Given the description of an element on the screen output the (x, y) to click on. 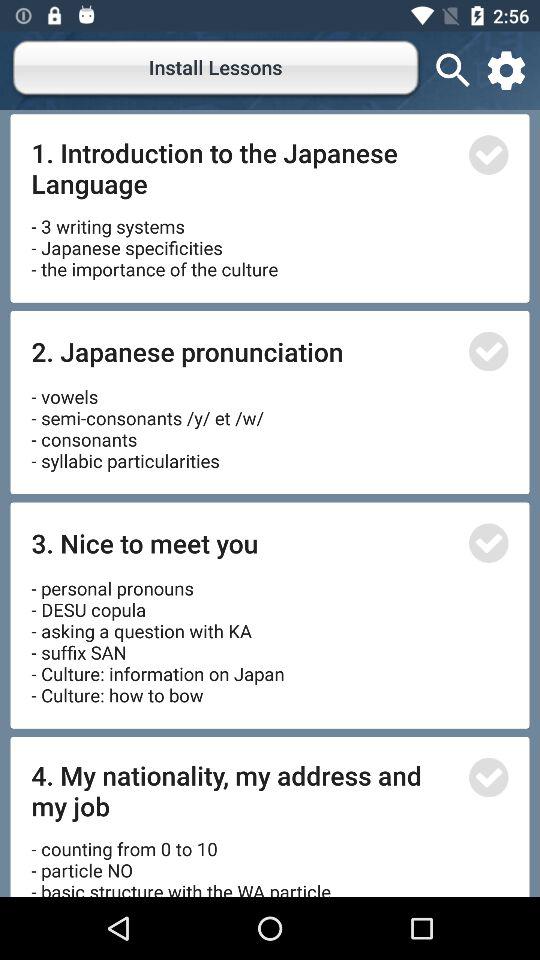
swipe until 1 introduction to (243, 167)
